Given the description of an element on the screen output the (x, y) to click on. 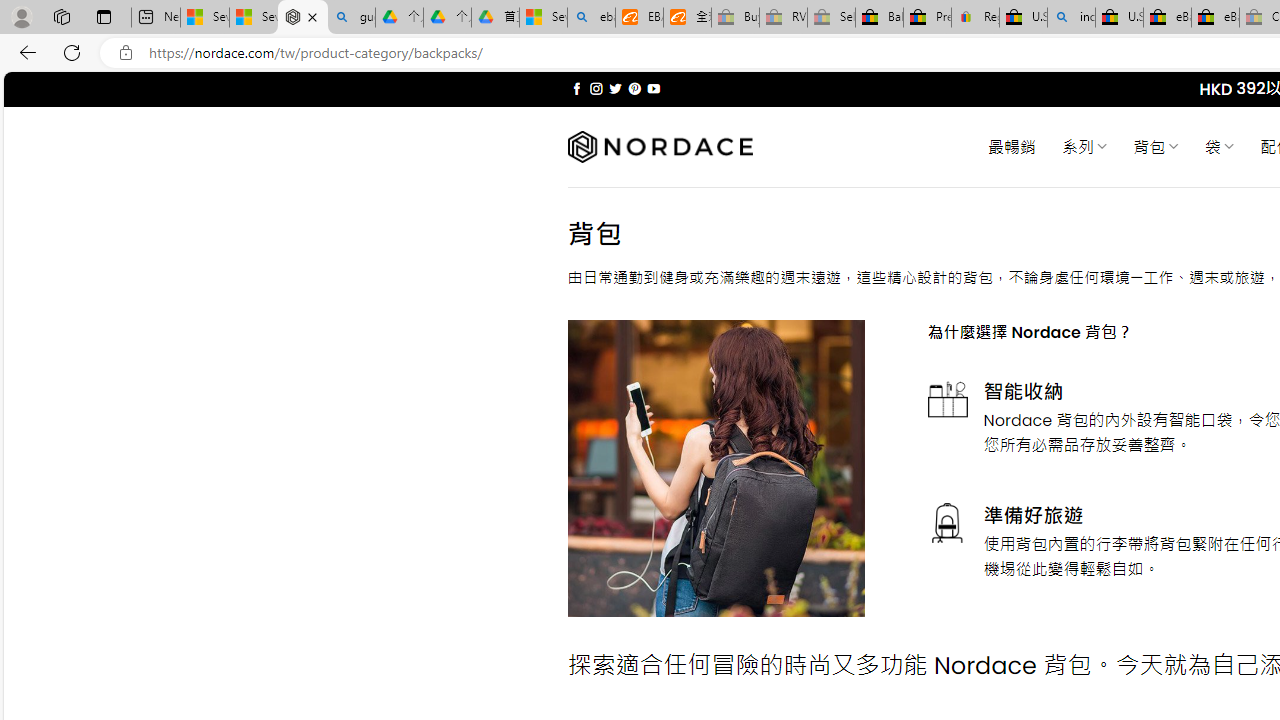
guge yunpan - Search (351, 17)
